Given the description of an element on the screen output the (x, y) to click on. 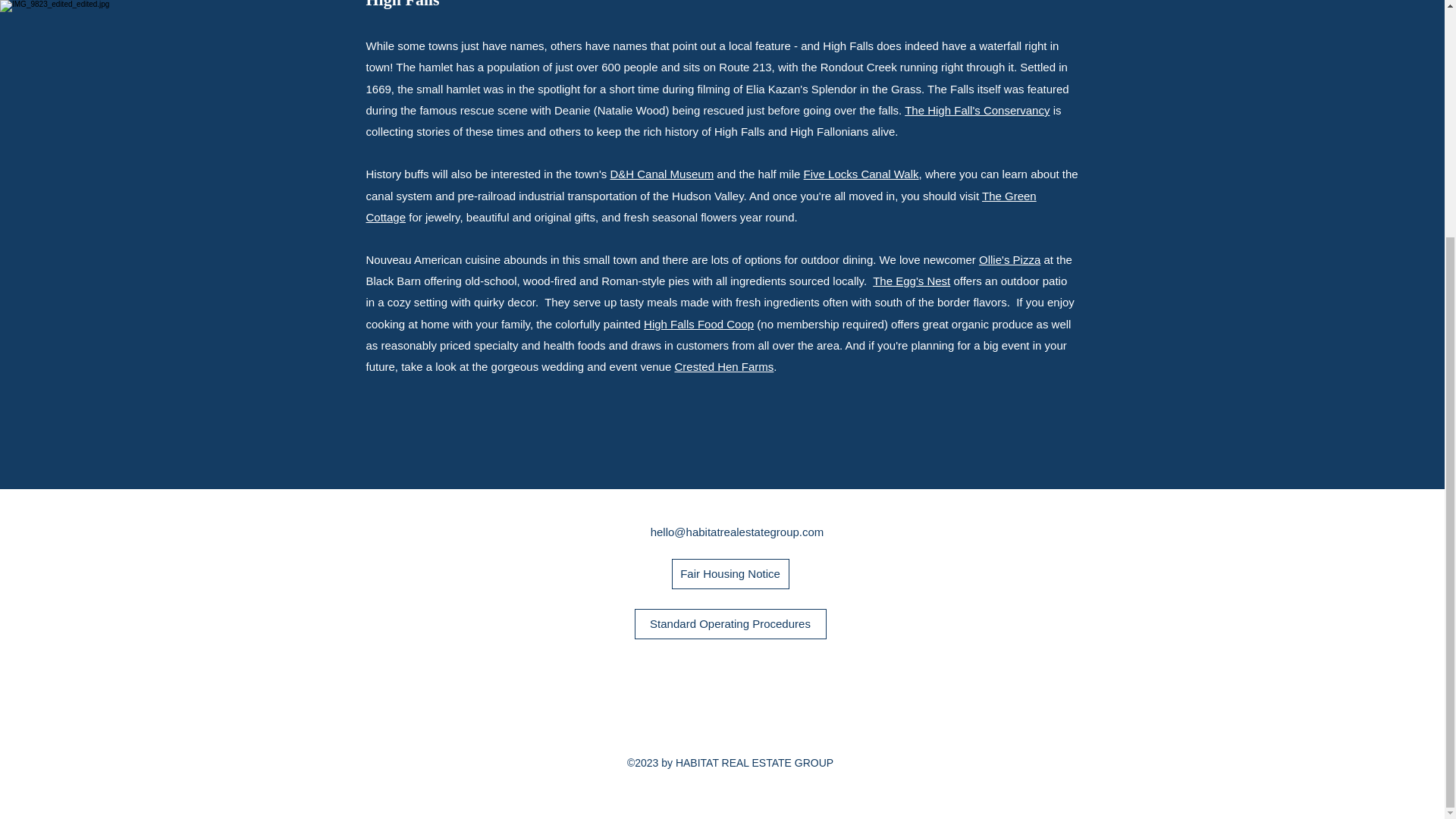
Fair Housing Notice (730, 573)
Standard Operating Procedures (729, 624)
The Green Cottage (700, 206)
High Falls Food Coop (698, 323)
The High Fall's Conservancy (976, 110)
Ollie's Pizza (1009, 259)
Crested Hen Farms (723, 366)
The Egg's Nest (911, 280)
Five Locks Canal Walk (860, 173)
